Given the description of an element on the screen output the (x, y) to click on. 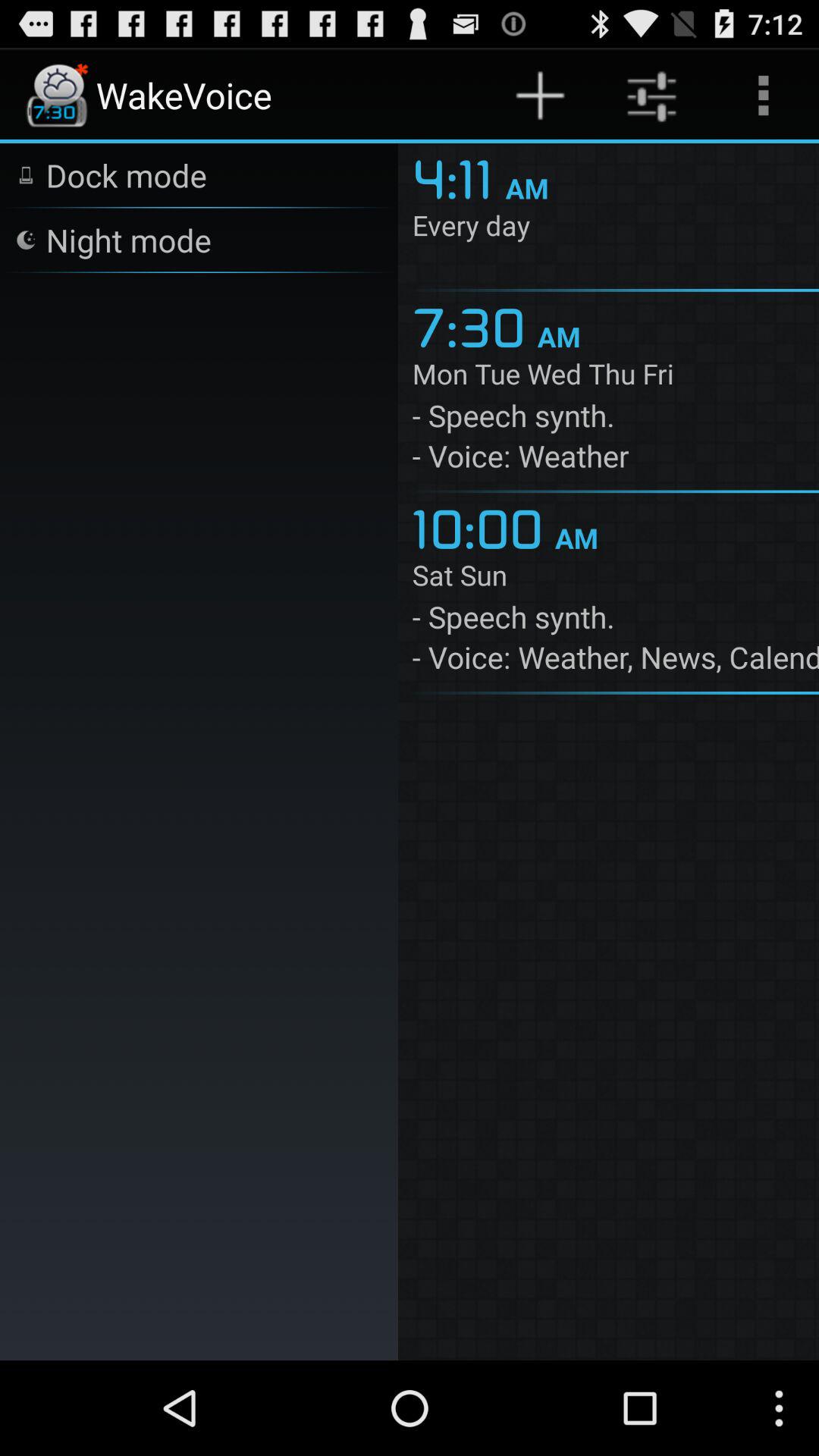
open item below the 10:00 icon (615, 578)
